Given the description of an element on the screen output the (x, y) to click on. 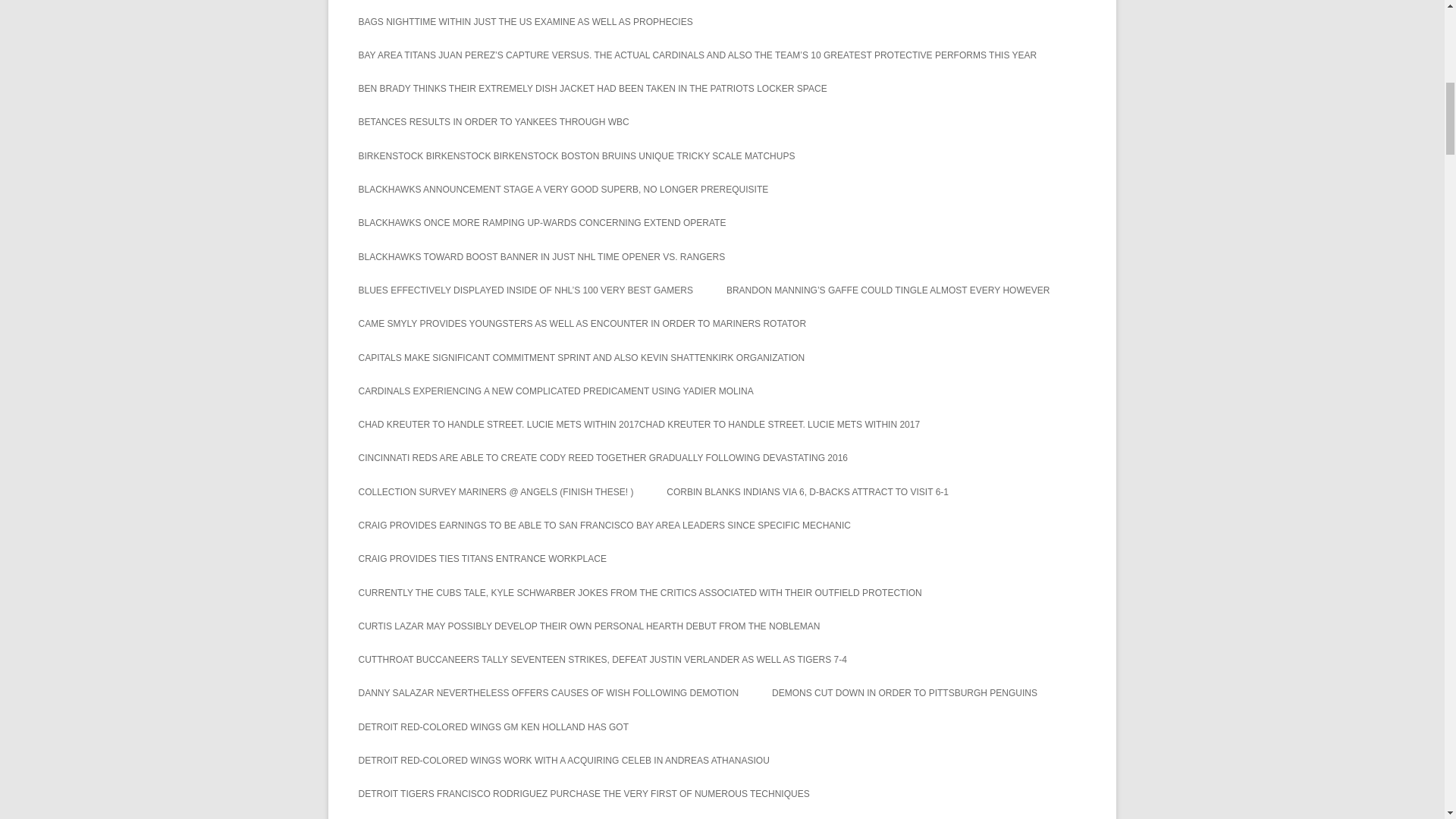
BETANCES RESULTS IN ORDER TO YANKEES THROUGH WBC (493, 121)
